Given the description of an element on the screen output the (x, y) to click on. 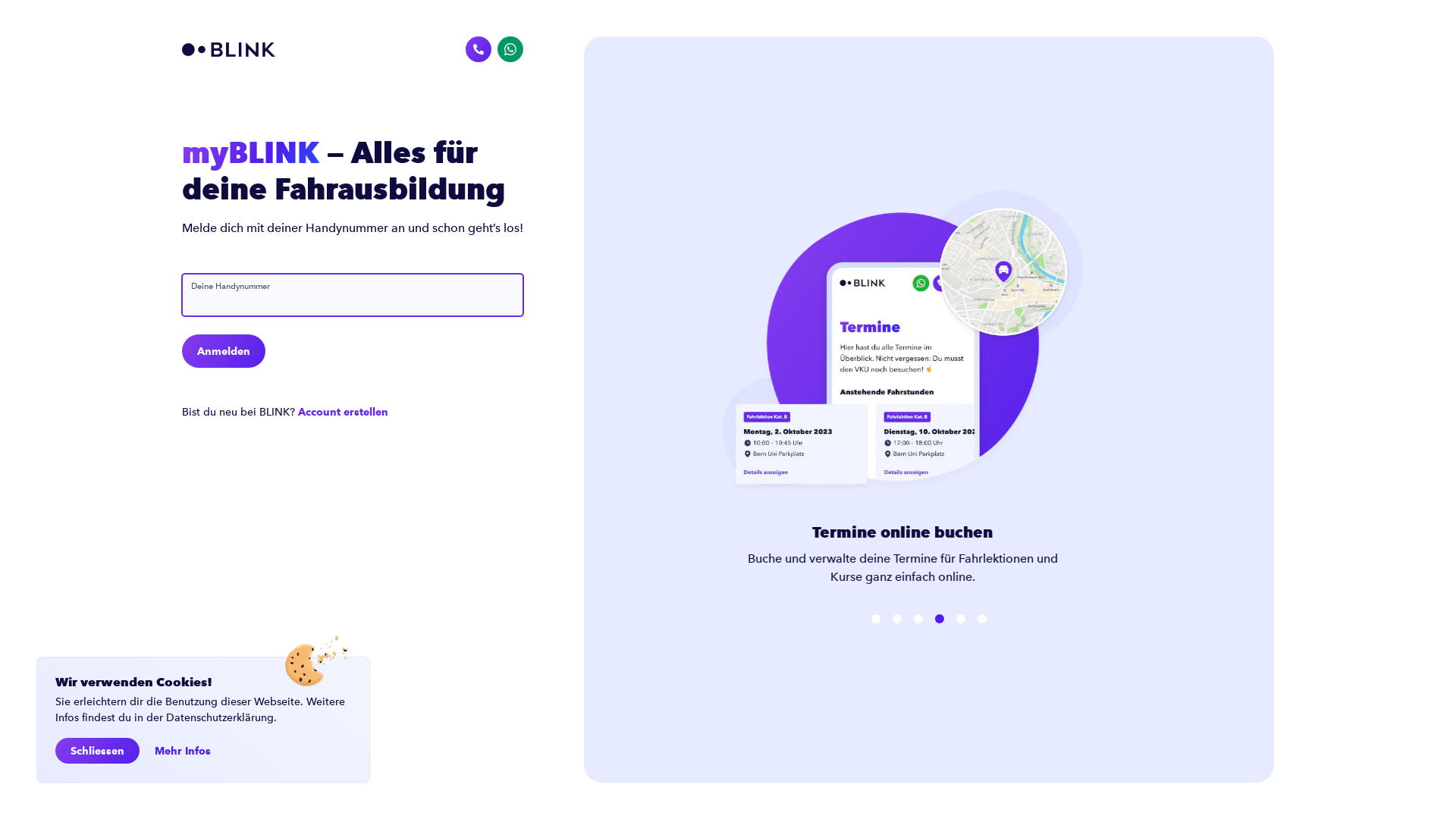
Schliessen Element type: text (97, 750)
Mehr Infos Element type: text (182, 750)
Anmelden Element type: text (223, 350)
Account erstellen Element type: text (343, 412)
